Given the description of an element on the screen output the (x, y) to click on. 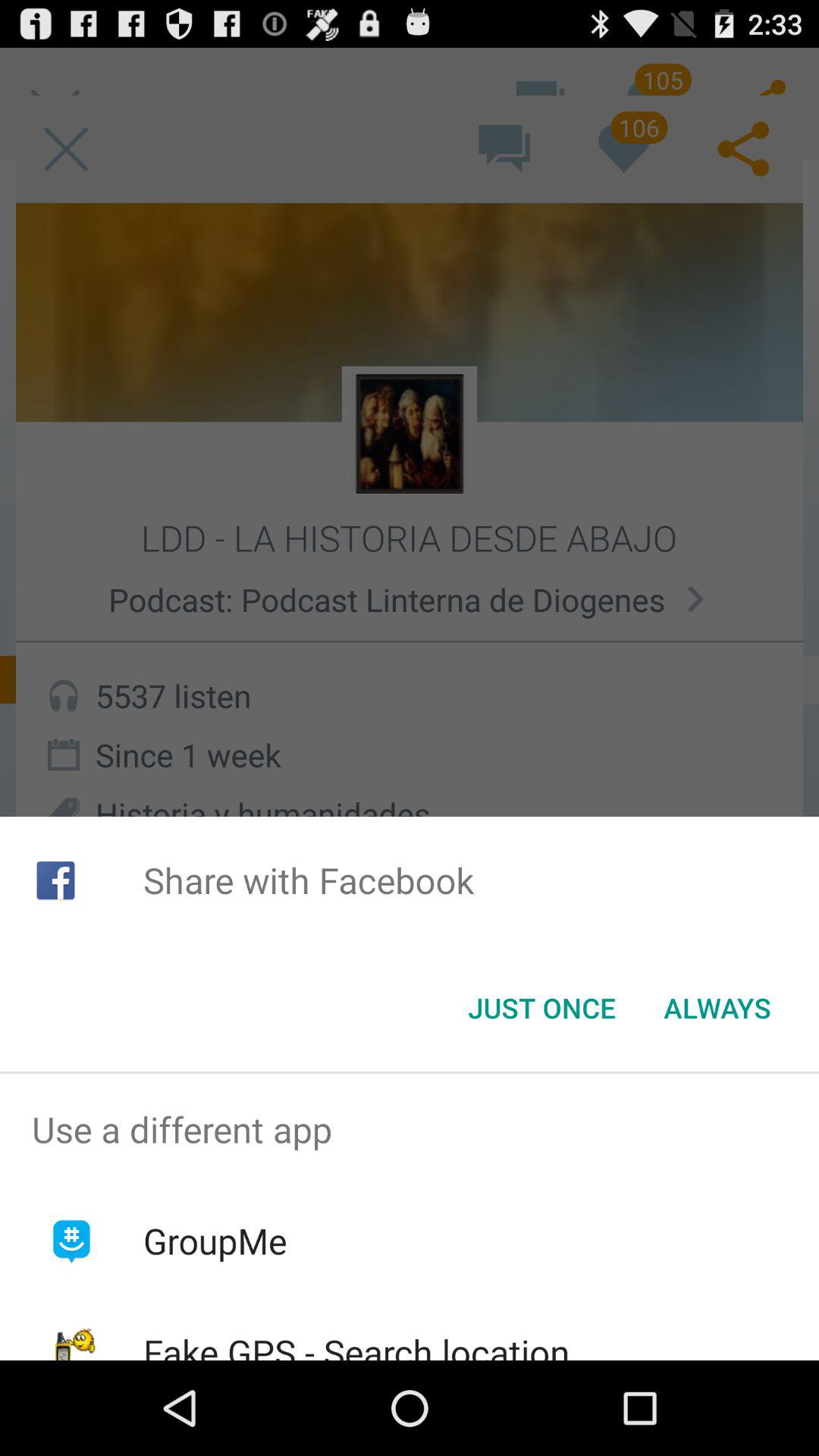
turn on use a different item (409, 1129)
